Given the description of an element on the screen output the (x, y) to click on. 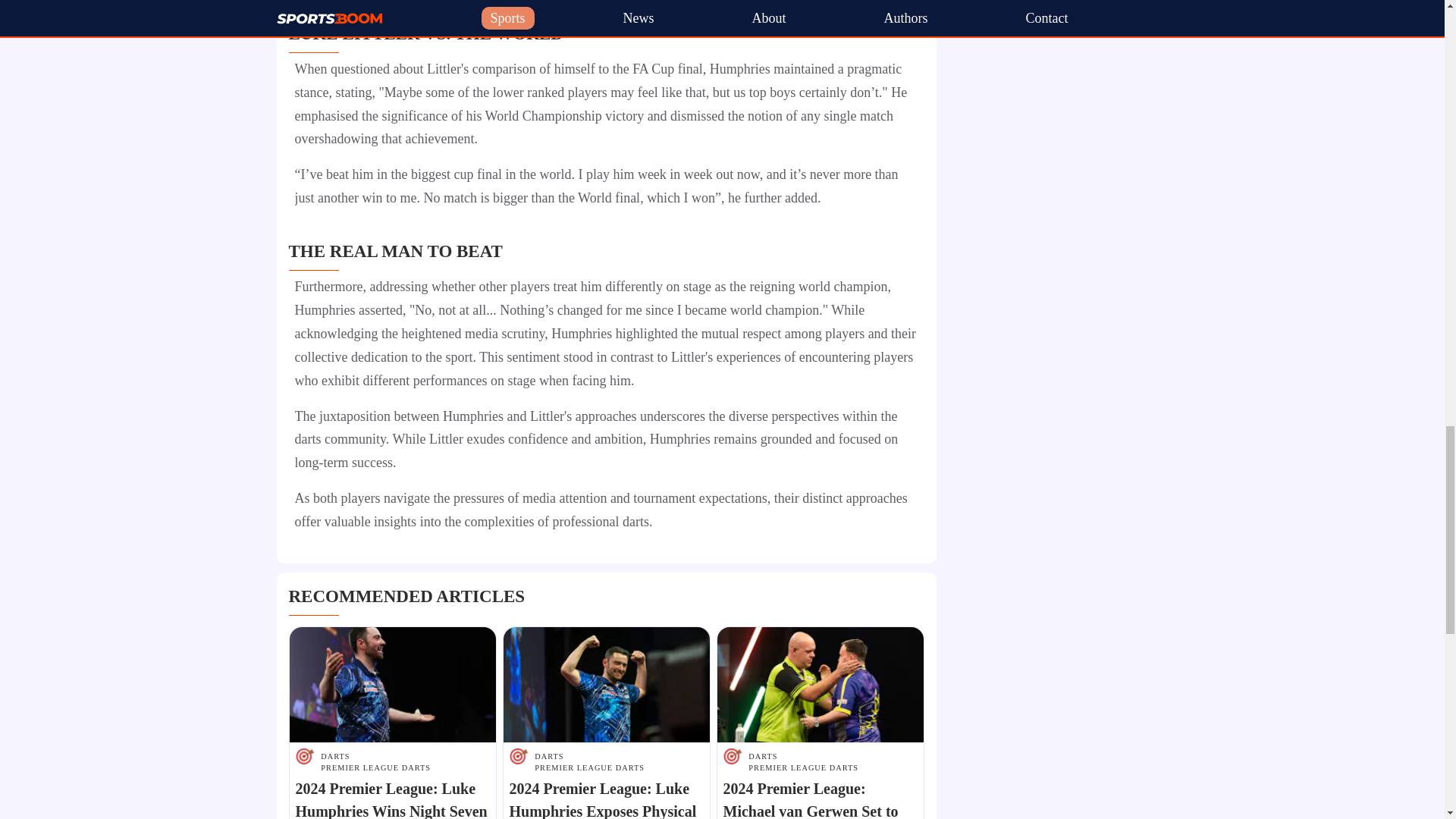
PREMIER LEAGUE DARTS (589, 767)
DARTS (803, 756)
PREMIER LEAGUE DARTS (803, 767)
PREMIER LEAGUE DARTS (375, 767)
